Given the description of an element on the screen output the (x, y) to click on. 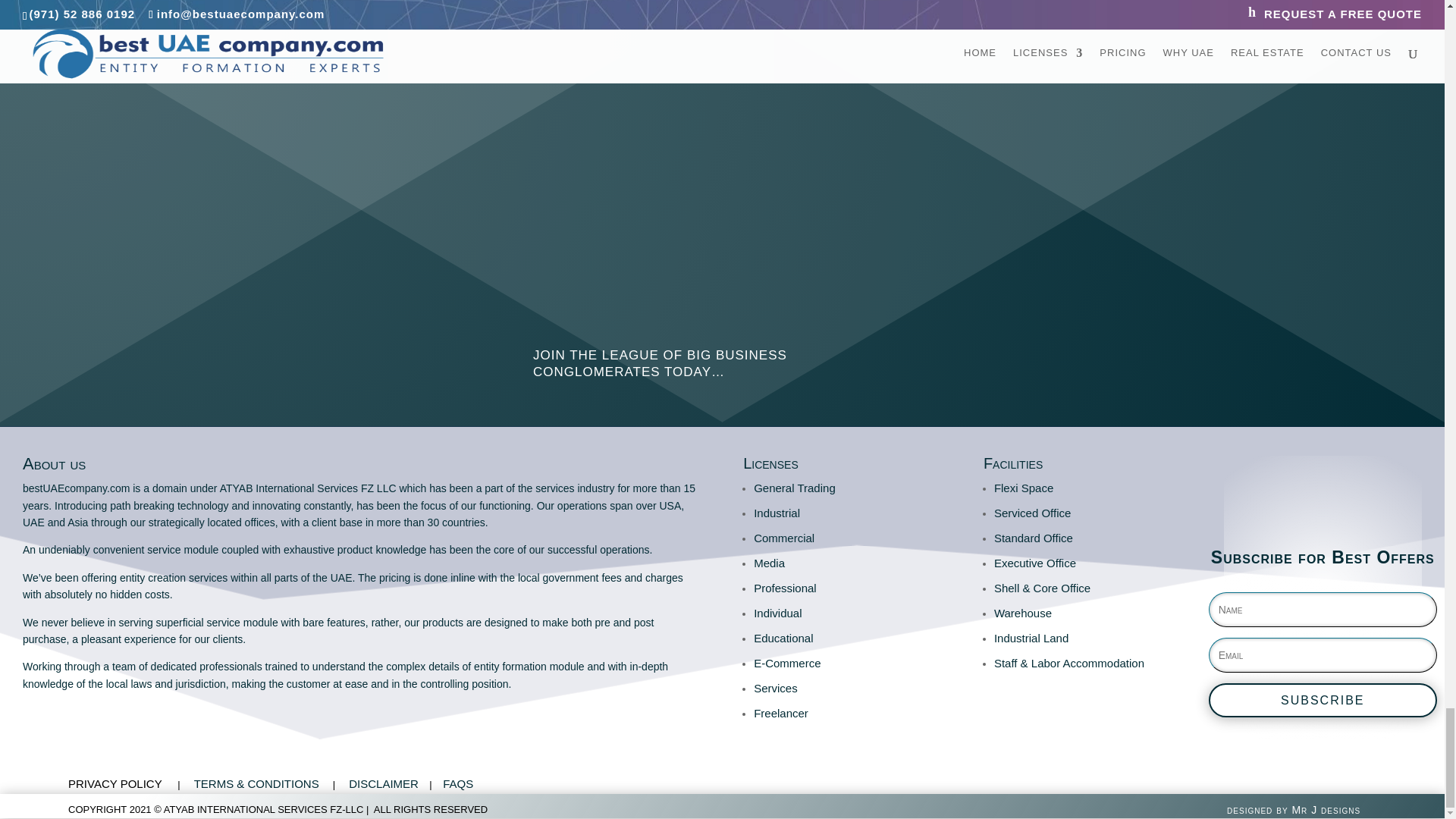
Media (769, 562)
Individual (778, 612)
General Trading (794, 487)
Commercial (783, 537)
Professional (785, 587)
Educational (783, 637)
Industrial (776, 512)
